Given the description of an element on the screen output the (x, y) to click on. 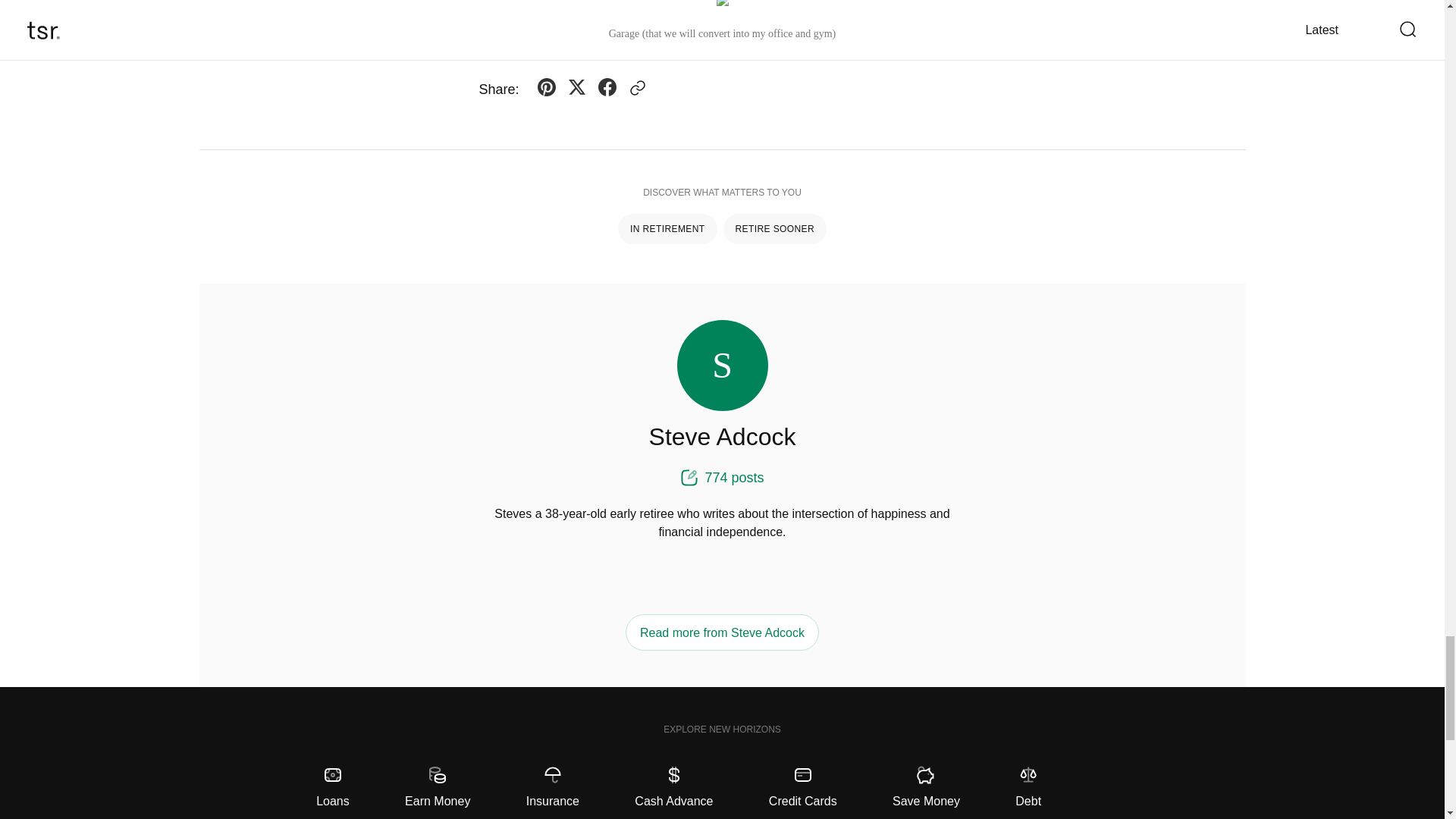
IN RETIREMENT (667, 228)
Read more from Steve Adcock (722, 632)
RETIRE SOONER (775, 228)
Steve Adcock (722, 436)
